Given the description of an element on the screen output the (x, y) to click on. 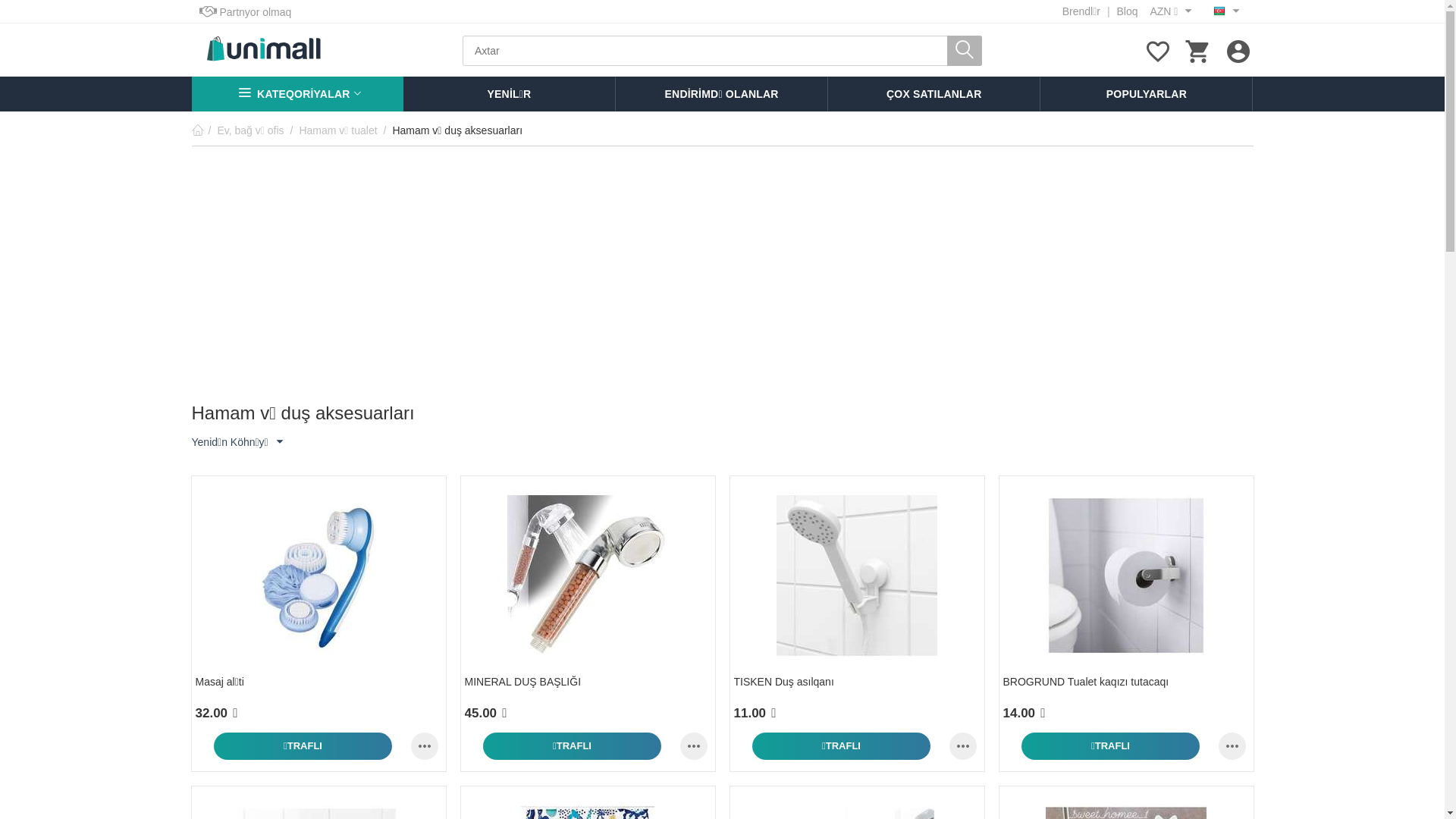
Axtar Element type: hover (964, 50)
Bloq Element type: text (1126, 11)
Axtar Element type: hover (722, 50)
Partnyor olmaq Element type: text (244, 12)
Advertisement Element type: hover (721, 285)
UniMall Element type: hover (263, 48)
POPULYARLAR Element type: text (1146, 93)
